Given the description of an element on the screen output the (x, y) to click on. 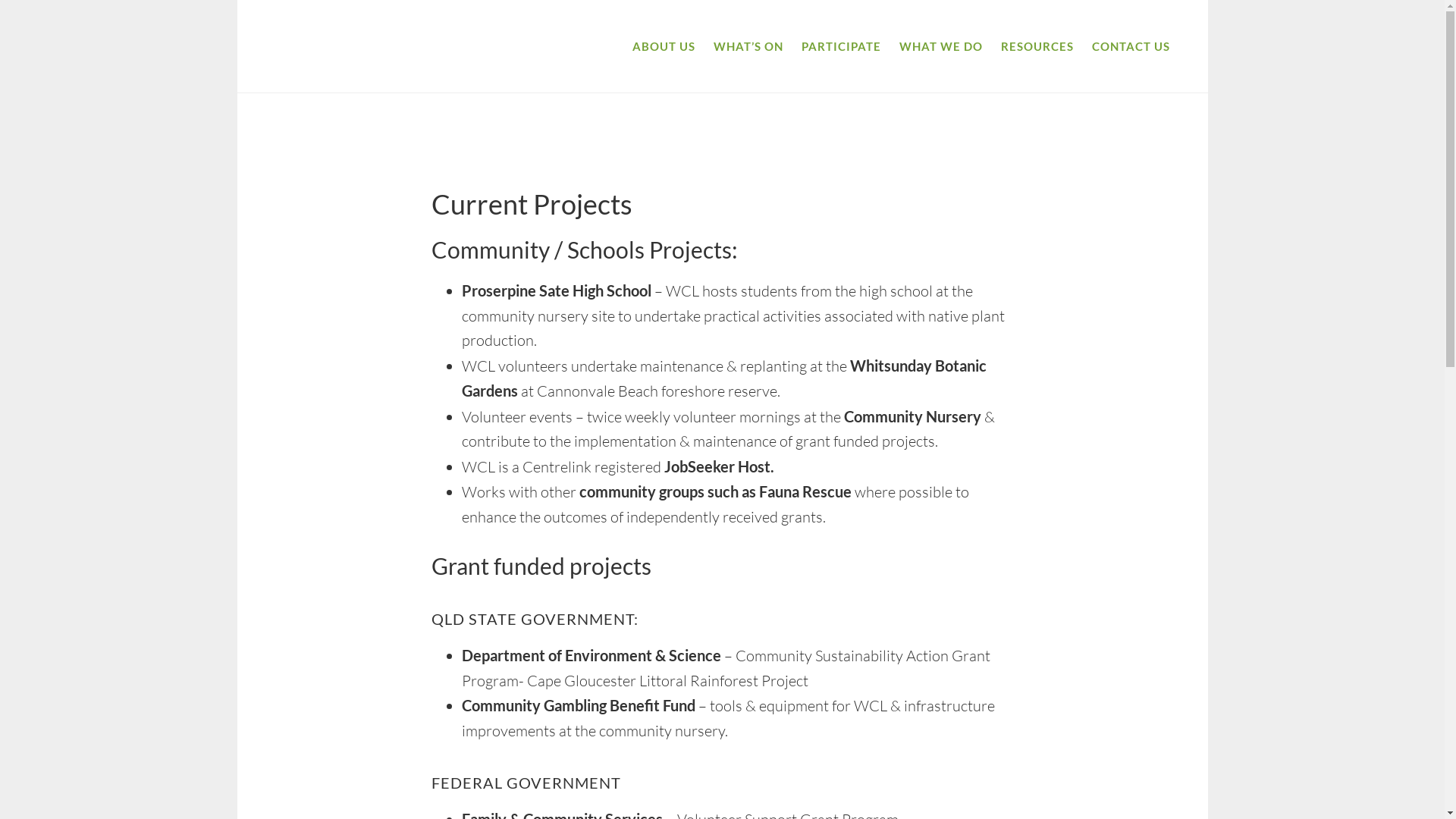
WHITSUNDAY CATCHMENT LANDCARE Element type: text (335, 47)
Skip to main content Element type: text (236, 0)
PARTICIPATE Element type: text (840, 46)
CONTACT US Element type: text (1130, 46)
ABOUT US Element type: text (663, 46)
RESOURCES Element type: text (1037, 46)
WHAT WE DO Element type: text (940, 46)
